Given the description of an element on the screen output the (x, y) to click on. 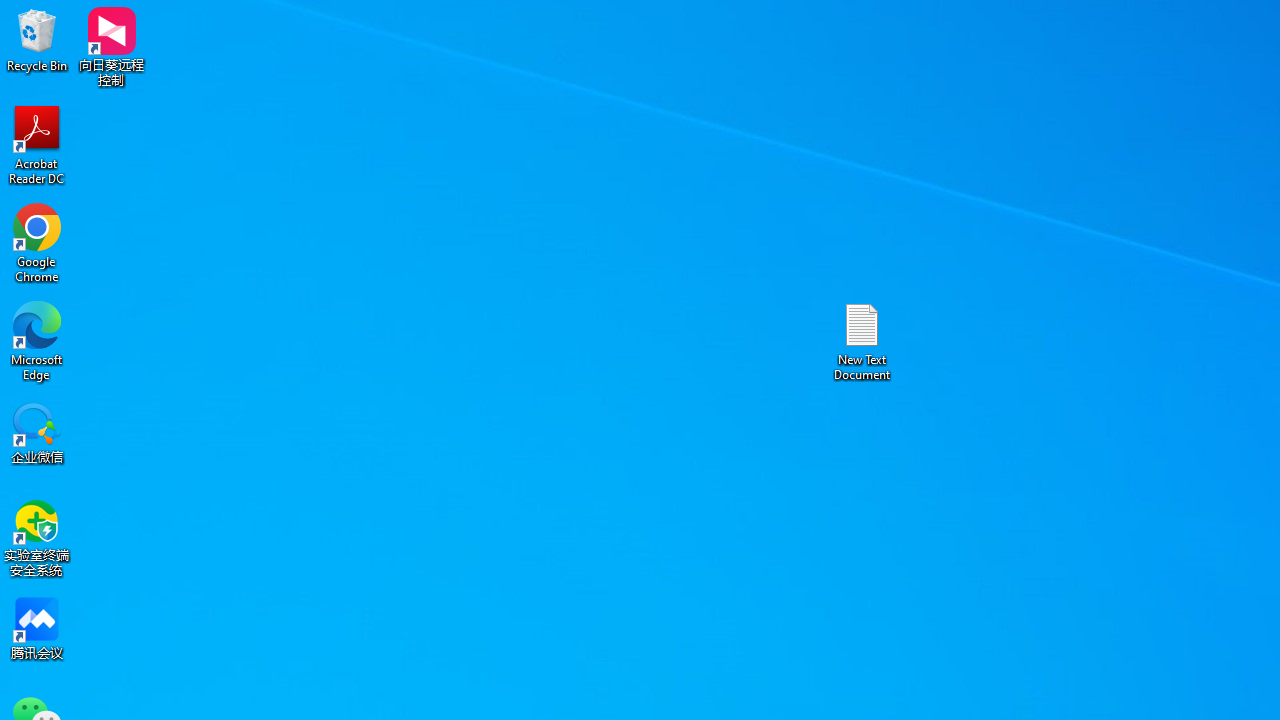
New Text Document (861, 340)
Acrobat Reader DC (37, 144)
Microsoft Edge (37, 340)
Google Chrome (37, 242)
Recycle Bin (37, 39)
